Given the description of an element on the screen output the (x, y) to click on. 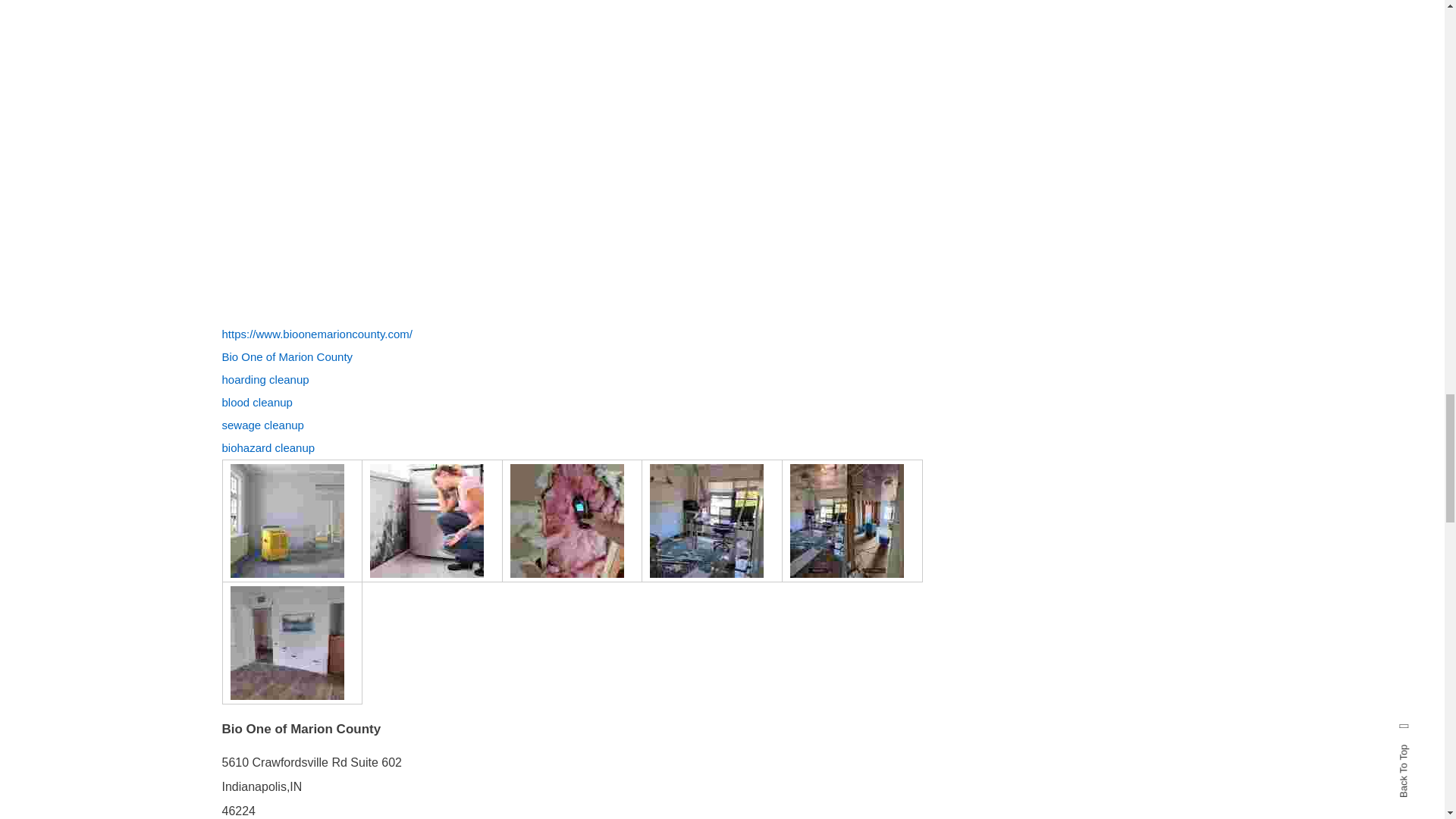
Bio One of Marion County 317-499-0614 (286, 643)
Bio One of Marion County 317-499-0614 (286, 521)
Bio One of Marion County 317-499-0614 (705, 521)
Bio One of Marion County 317-499-0614 (847, 521)
Bio One of Marion County 317-499-0614 (567, 521)
Bio One of Marion County 317-499-0614 (426, 521)
